Given the description of an element on the screen output the (x, y) to click on. 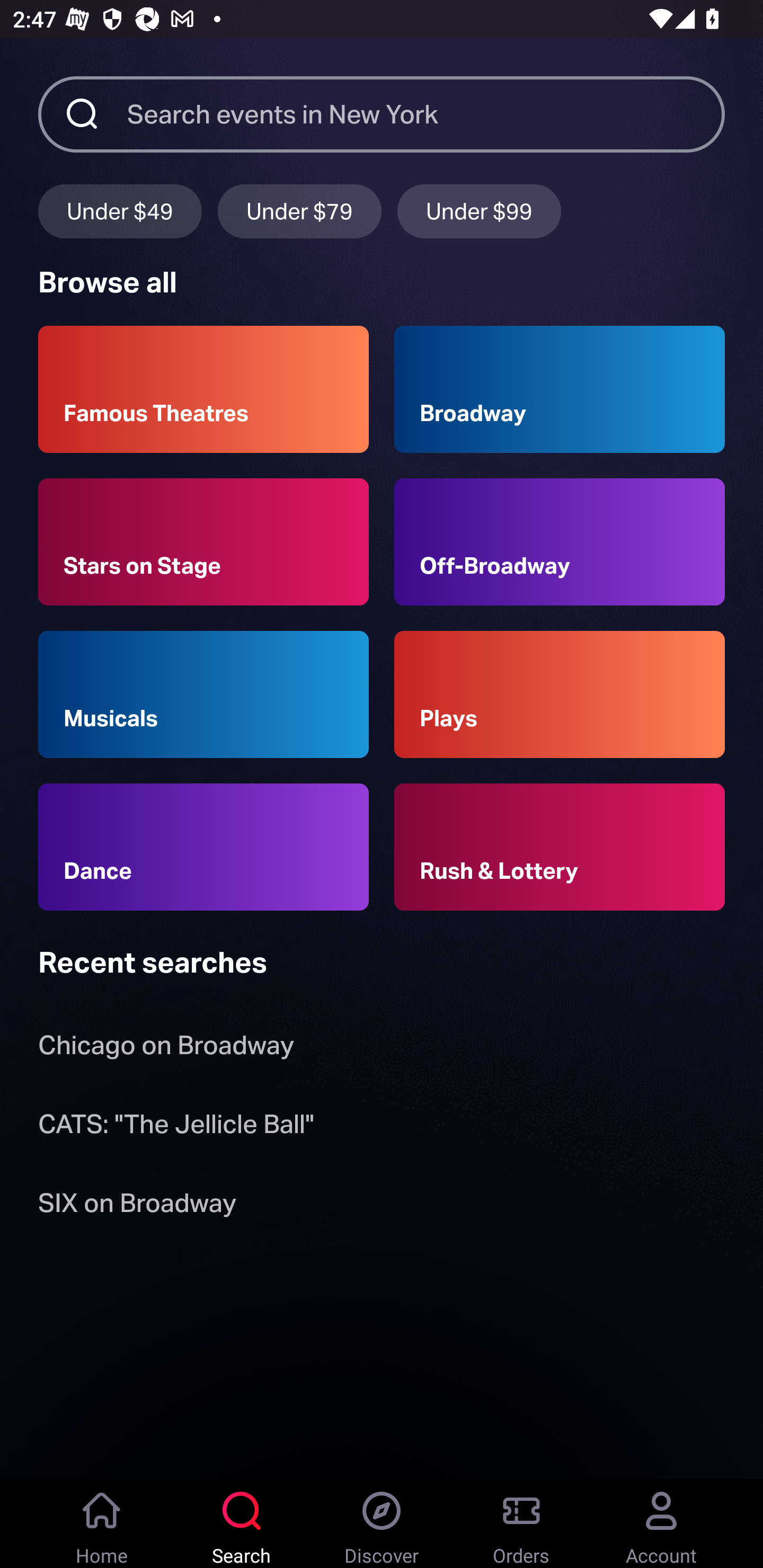
Search events in New York (425, 113)
Under $49 (120, 211)
Under $79 (299, 211)
Under $99 (478, 211)
Famous Theatres (203, 389)
Broadway (559, 389)
Stars on Stage (203, 541)
Off-Broadway (559, 541)
Musicals (203, 693)
Plays (559, 693)
Dance (203, 847)
Rush & Lottery (559, 847)
Chicago on Broadway (165, 1048)
CATS: "The Jellicle Ball" (176, 1127)
SIX on Broadway (137, 1205)
Home (101, 1523)
Discover (381, 1523)
Orders (521, 1523)
Account (660, 1523)
